Given the description of an element on the screen output the (x, y) to click on. 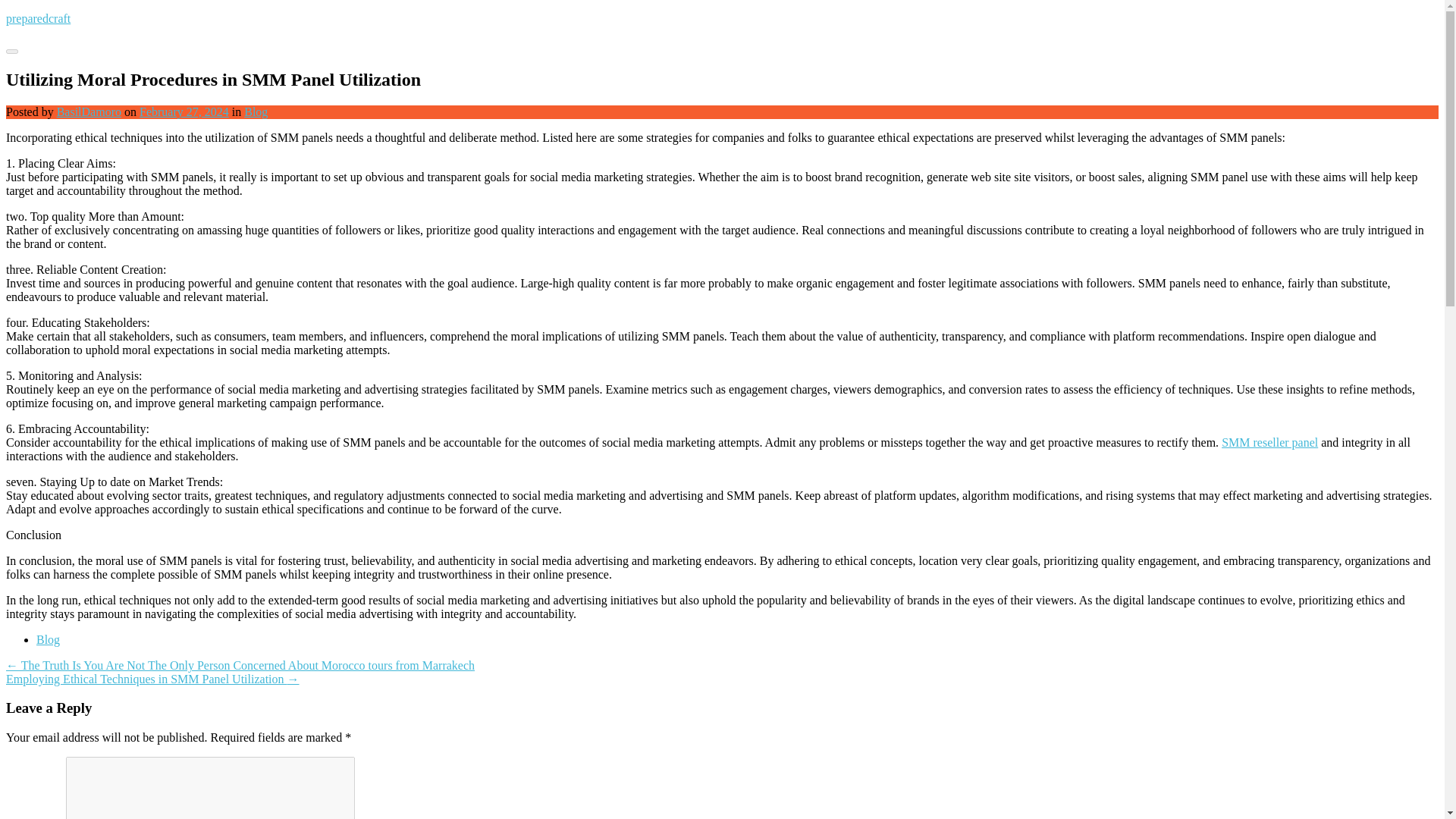
preparedcraft (37, 18)
BasilDamoro (88, 111)
February 27, 2024 (183, 111)
Blog (47, 639)
SMM reseller panel (1269, 441)
Blog (255, 111)
